Given the description of an element on the screen output the (x, y) to click on. 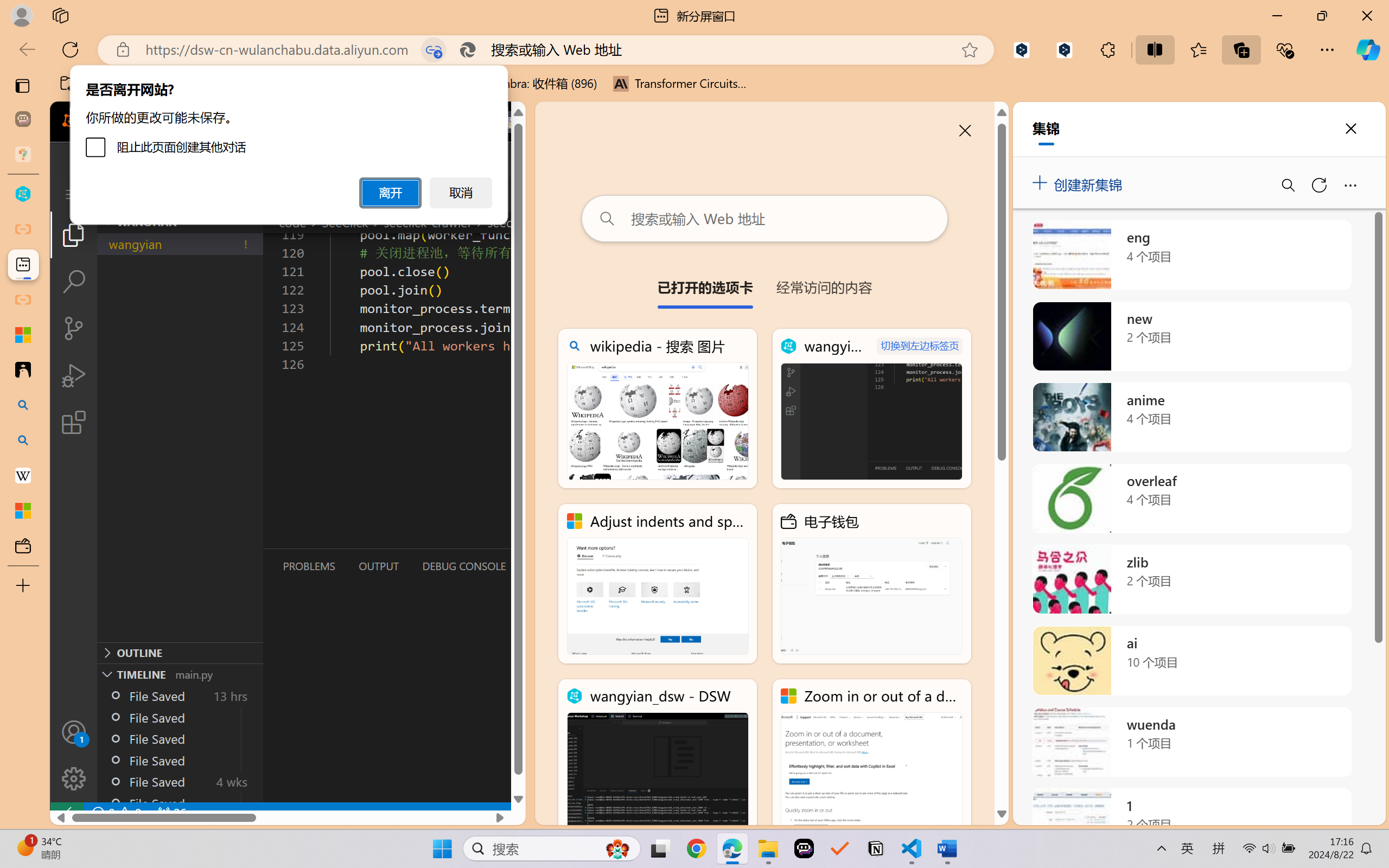
Manage (73, 778)
wangyian_webcrawler - DSW (871, 408)
Terminal (Ctrl+`) (553, 565)
Transformer Circuits Thread (680, 83)
Output (Ctrl+Shift+U) (377, 565)
